Given the description of an element on the screen output the (x, y) to click on. 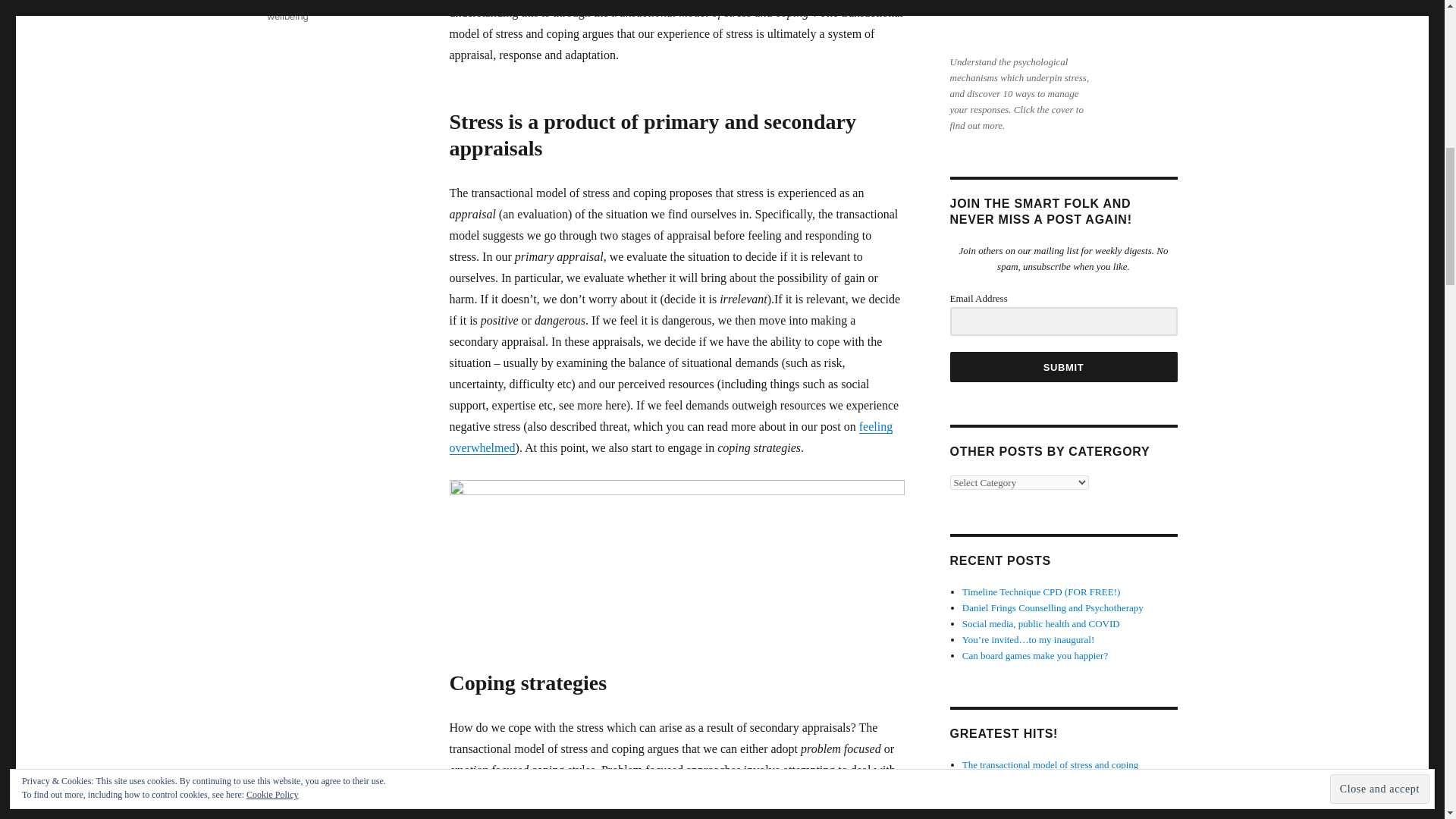
stress (366, 2)
wellbeing (286, 16)
feeling overwhelmed (670, 437)
health (280, 2)
psychology (323, 2)
aligncenter (1021, 24)
